Given the description of an element on the screen output the (x, y) to click on. 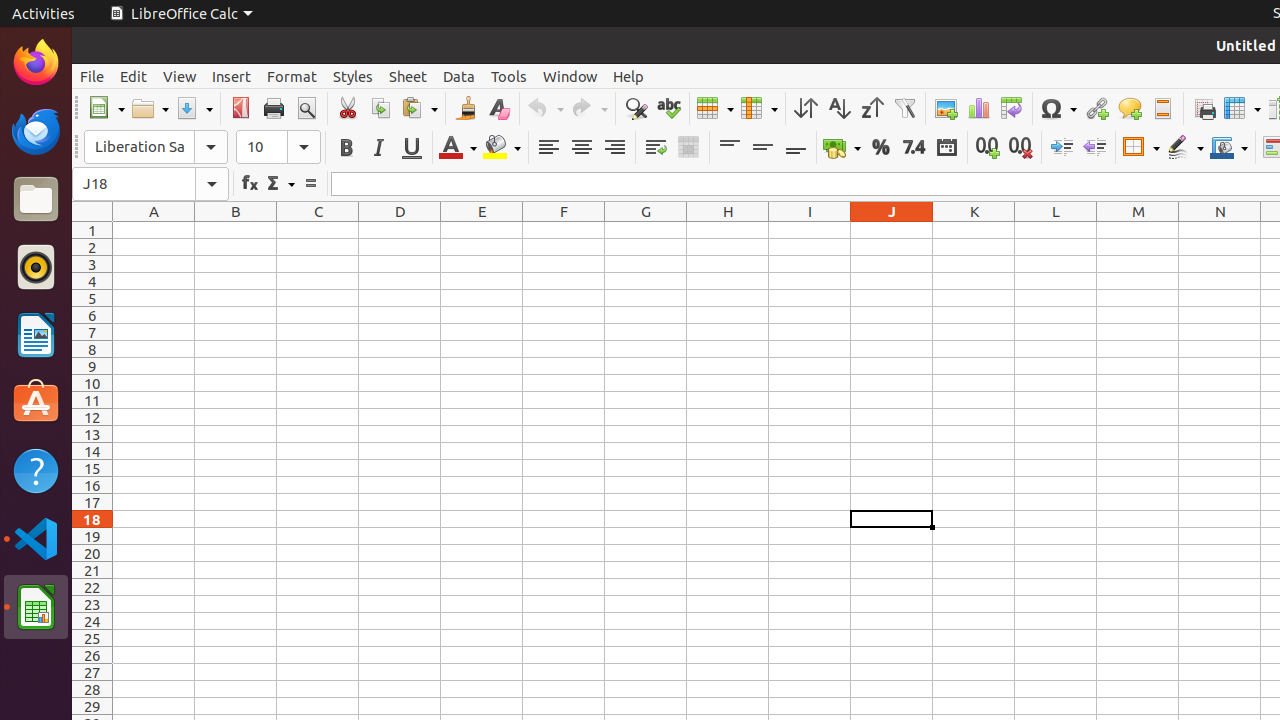
Paste Element type: push-button (419, 108)
Currency Element type: push-button (842, 147)
M1 Element type: table-cell (1138, 230)
H1 Element type: table-cell (728, 230)
